Given the description of an element on the screen output the (x, y) to click on. 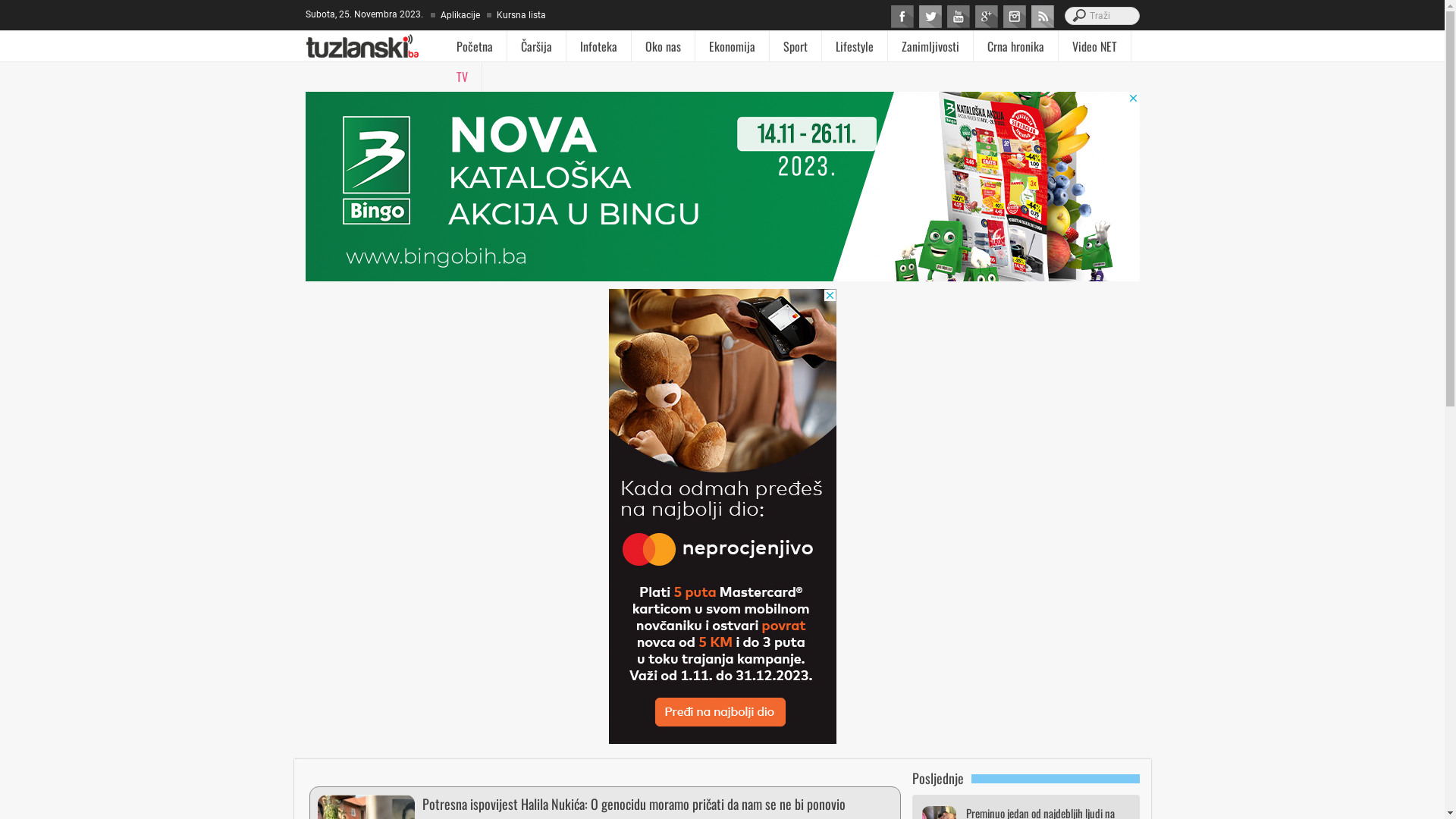
Kursna lista Element type: text (519, 15)
Video NET Element type: text (1094, 46)
Zanimljivosti Element type: text (930, 46)
Infoteka Element type: text (598, 46)
Aplikacije Element type: text (458, 15)
Sport Element type: text (795, 46)
3rd party ad content Element type: hover (721, 186)
Oko nas Element type: text (662, 46)
Lifestyle Element type: text (854, 46)
Crna hronika Element type: text (1015, 46)
Ekonomija Element type: text (731, 46)
3rd party ad content Element type: hover (721, 515)
TV Element type: text (461, 76)
